Given the description of an element on the screen output the (x, y) to click on. 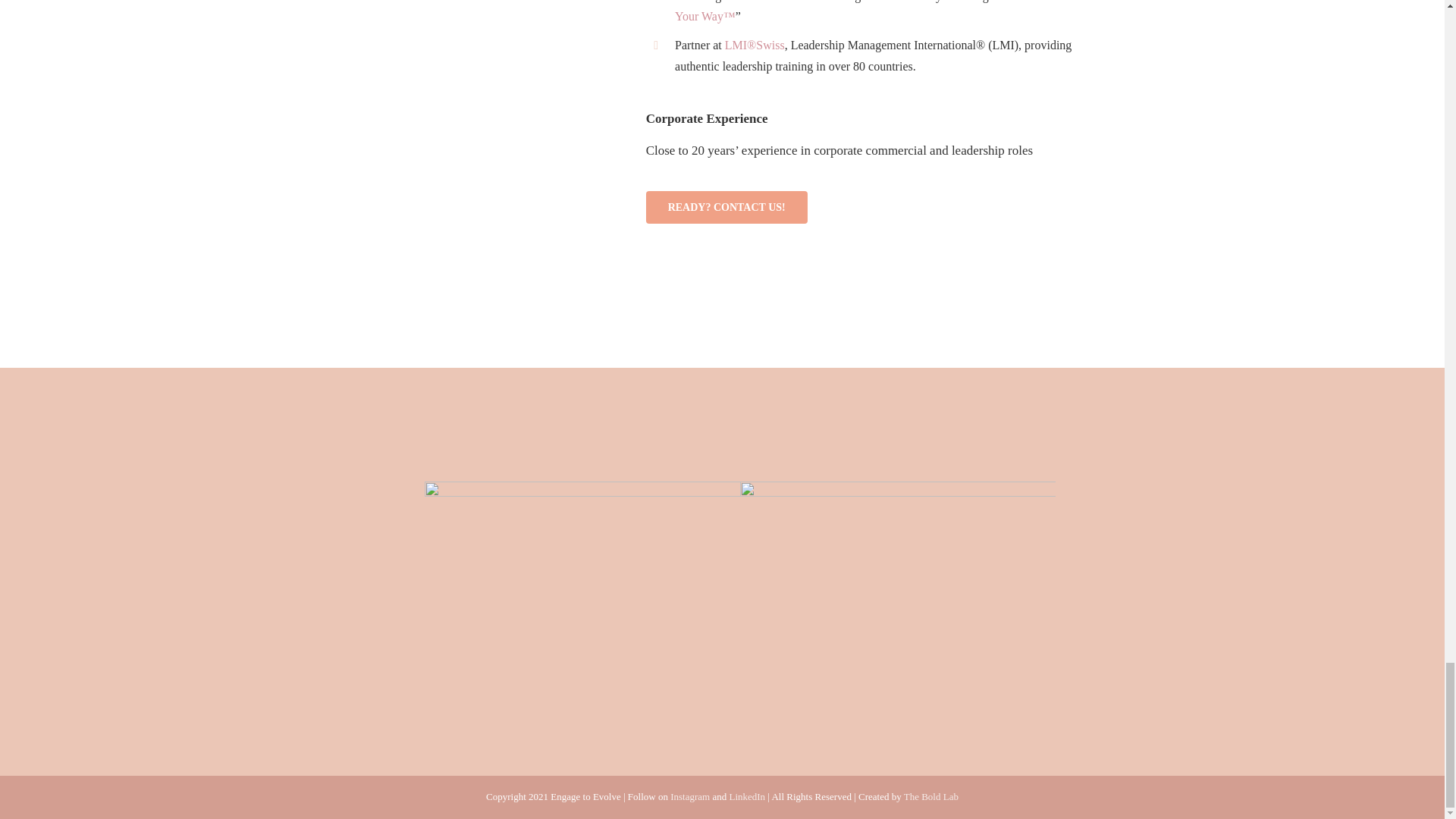
READY? CONTACT US! (727, 206)
LinkedIn (747, 796)
Instagram (689, 796)
The Bold Lab (931, 796)
